Given the description of an element on the screen output the (x, y) to click on. 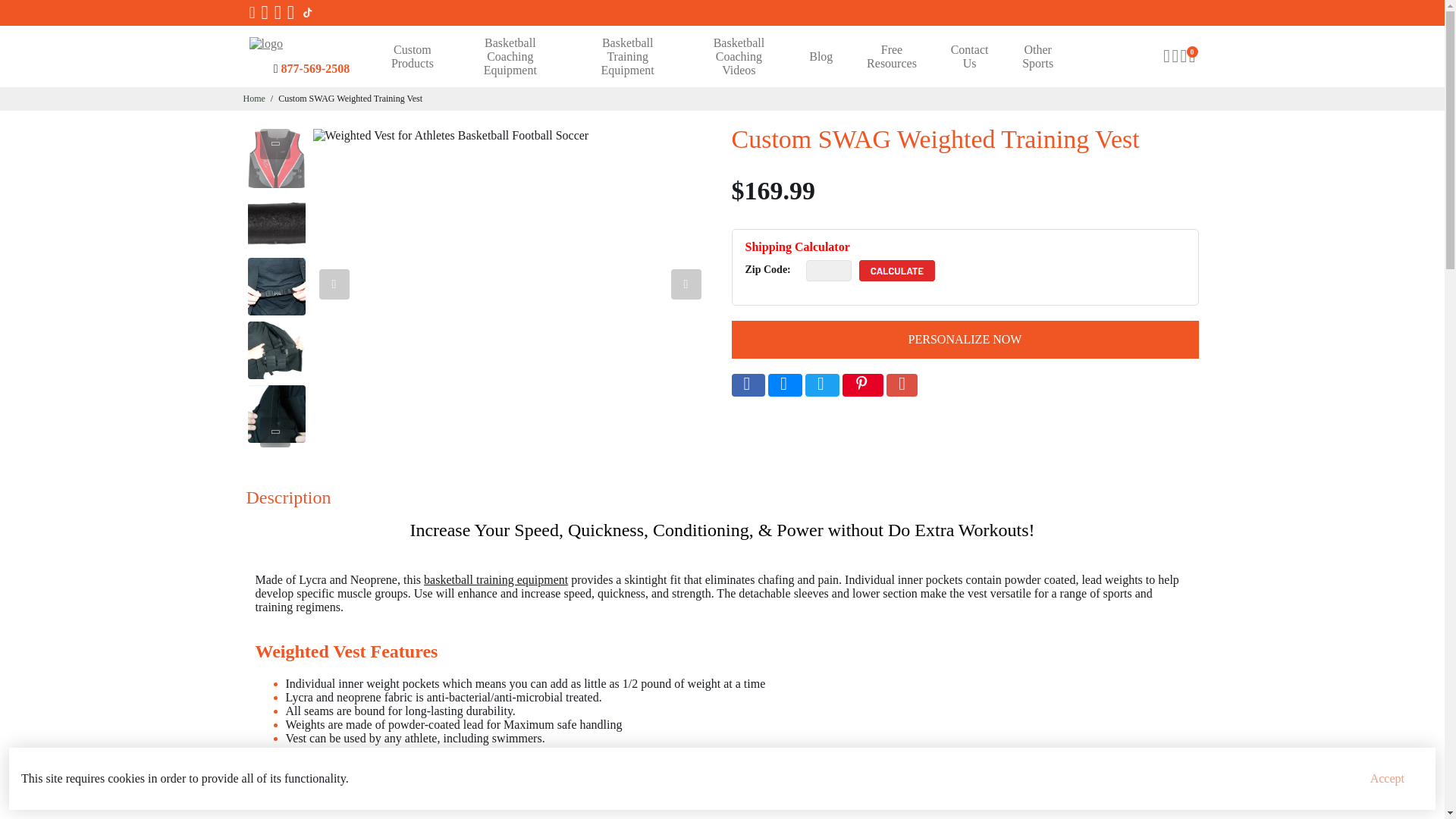
Custom Products (411, 56)
Home (253, 98)
877-569-2508 (315, 68)
